Given the description of an element on the screen output the (x, y) to click on. 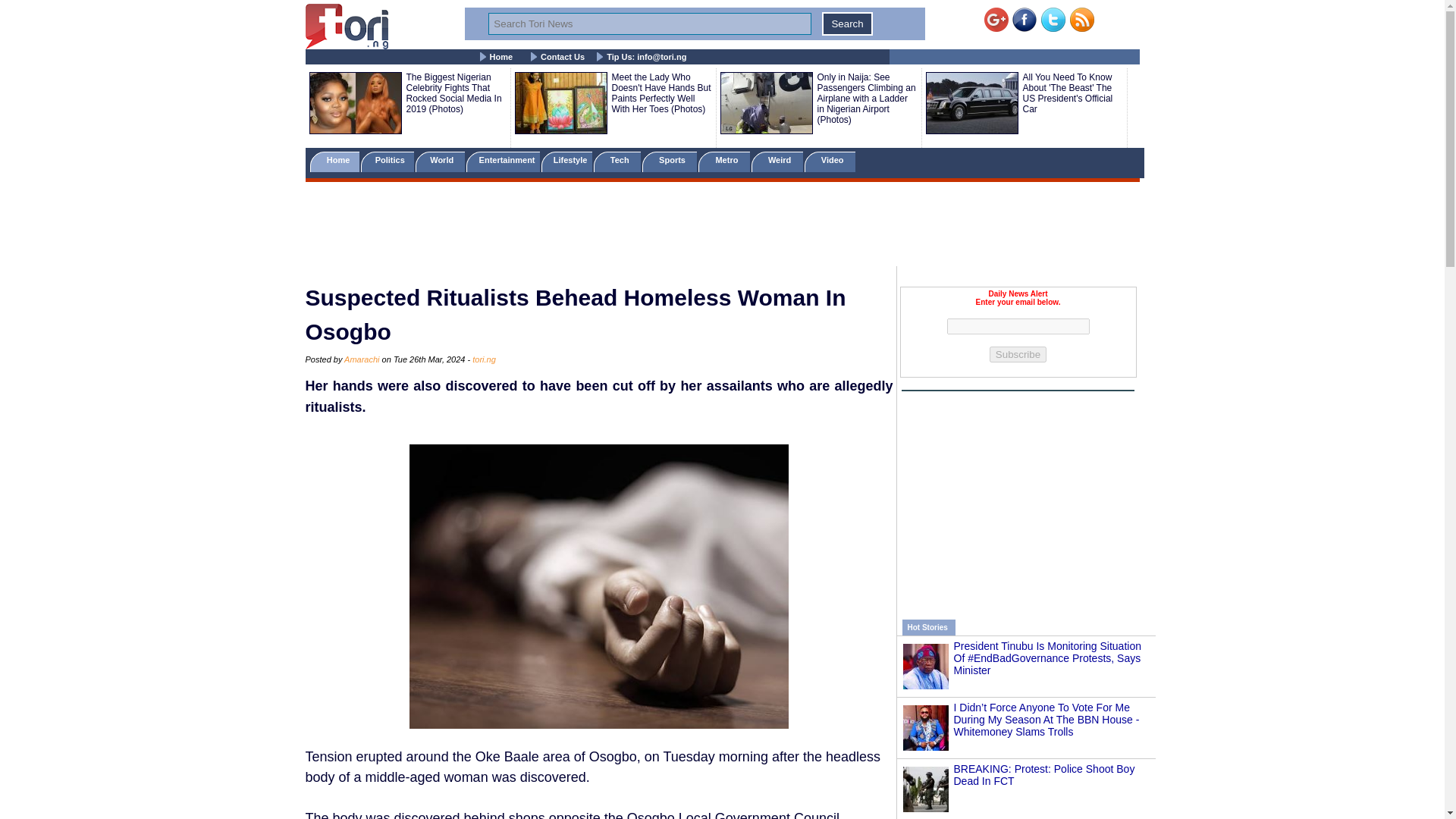
Click To Search (847, 24)
   Politics     (387, 161)
Subscribe (1018, 354)
    Sports      (669, 161)
Search (847, 24)
   World      (439, 161)
BREAKING: Protest: Police Shoot Boy Dead In FCT (1044, 774)
    Home     (333, 161)
Contact Us (562, 56)
